Given the description of an element on the screen output the (x, y) to click on. 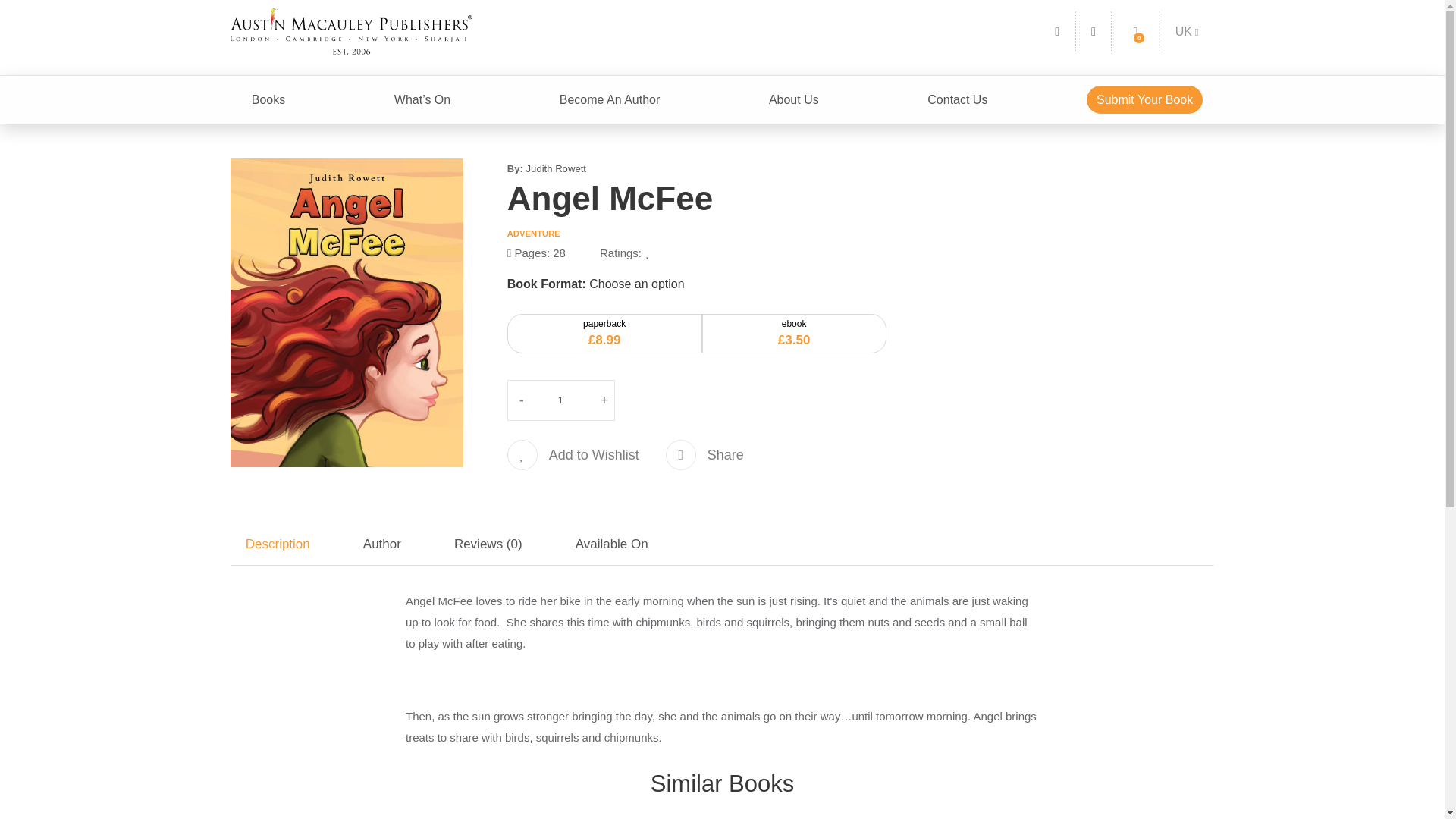
Books (268, 99)
1 (560, 400)
Branch (1187, 31)
UK (1187, 31)
